Given the description of an element on the screen output the (x, y) to click on. 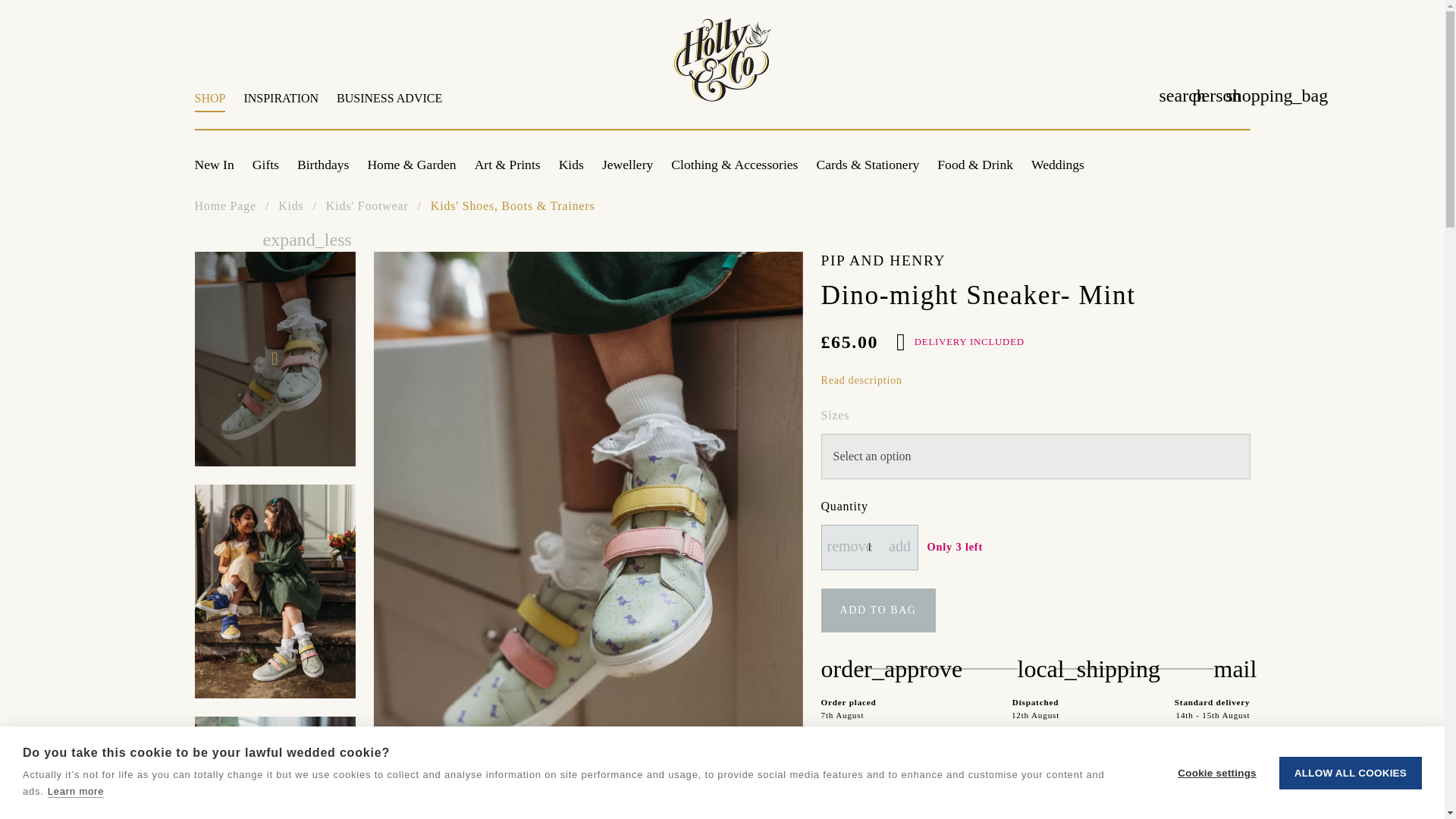
BUSINESS ADVICE (384, 106)
1 (869, 547)
INSPIRATION (280, 106)
